Given the description of an element on the screen output the (x, y) to click on. 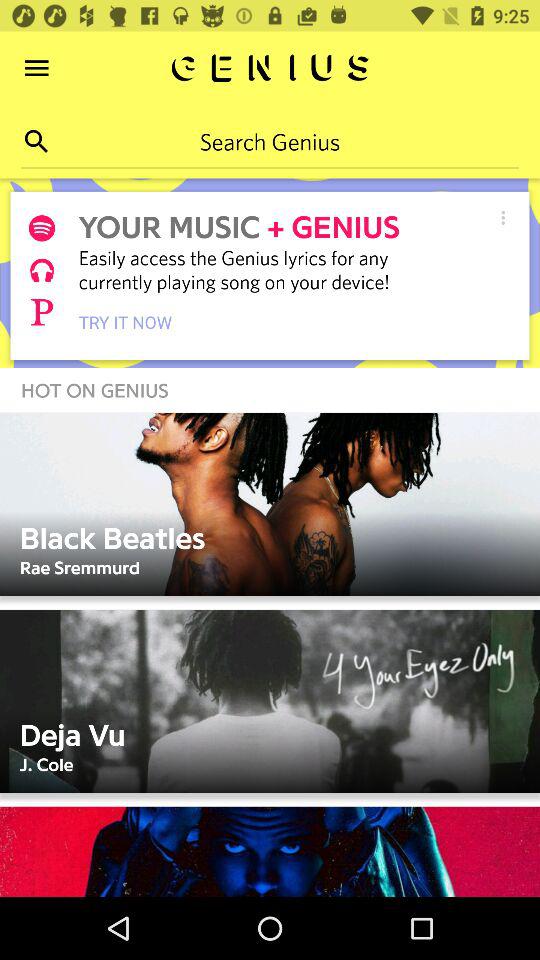
go to settings (503, 217)
